Given the description of an element on the screen output the (x, y) to click on. 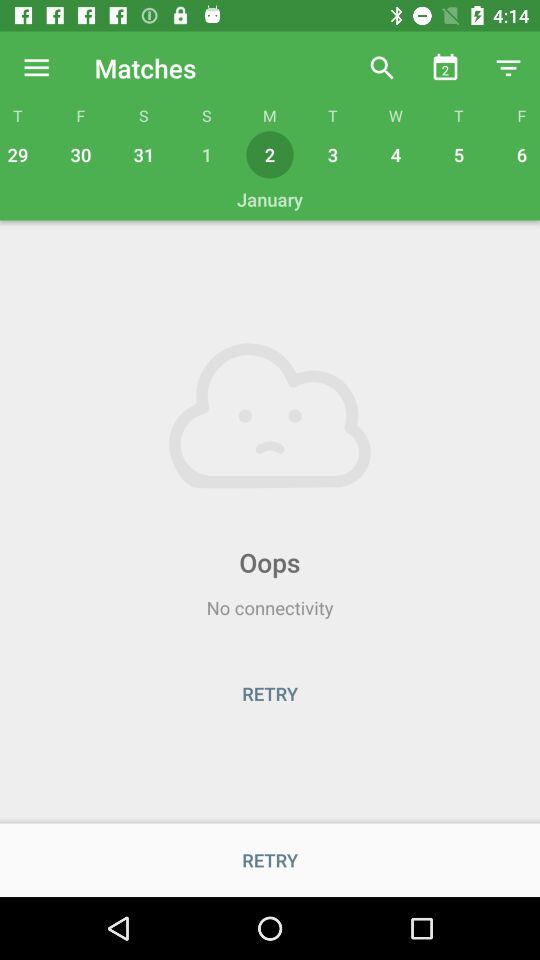
flip until 30 item (80, 154)
